Given the description of an element on the screen output the (x, y) to click on. 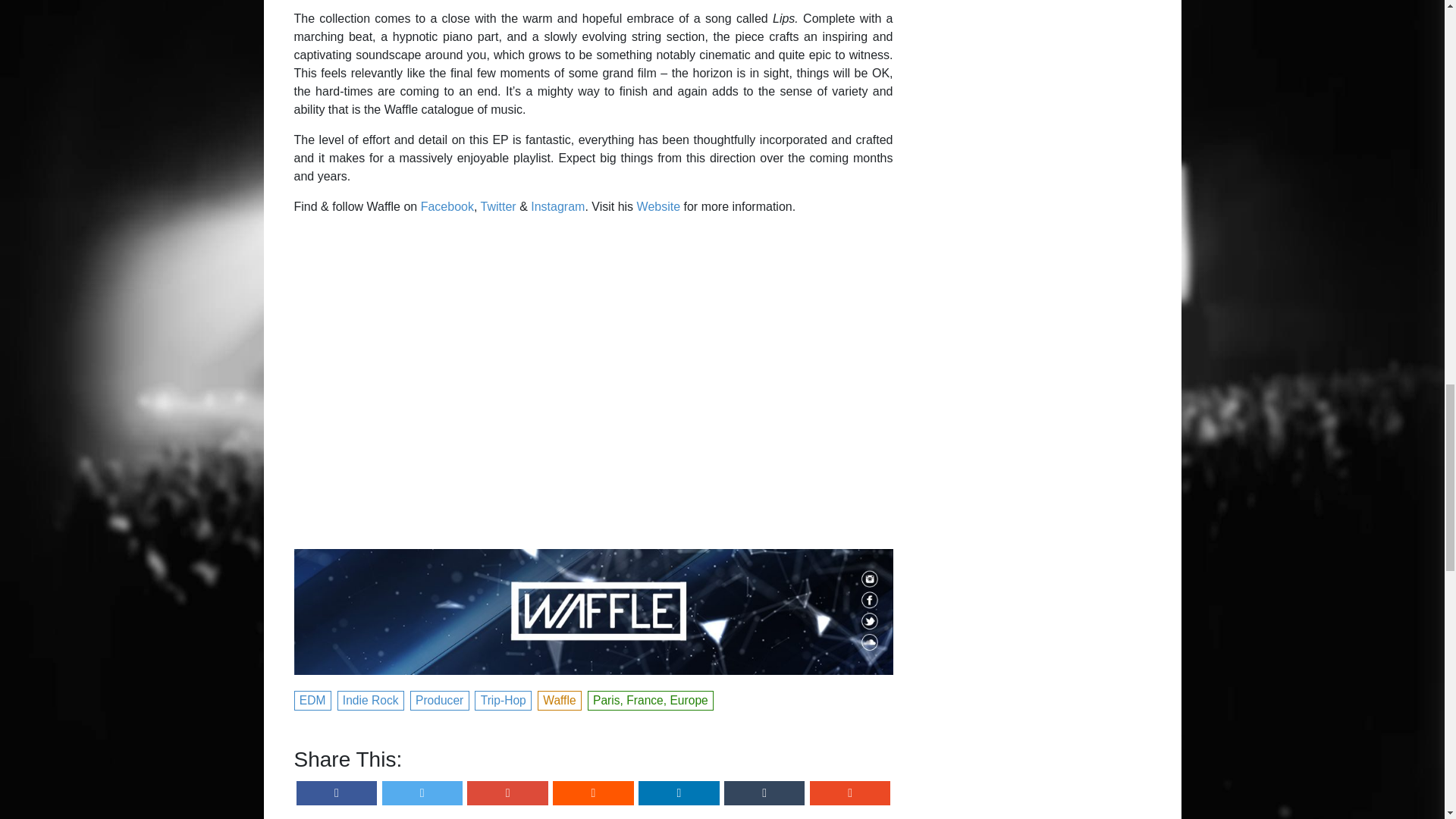
Paris, France, Europe (651, 698)
Twitter (498, 205)
Website (659, 205)
Waffle (559, 698)
Producer (440, 698)
Trip-Hop (503, 698)
EDM (313, 698)
Indie Rock (371, 698)
Facebook (447, 205)
Instagram (558, 205)
